Given the description of an element on the screen output the (x, y) to click on. 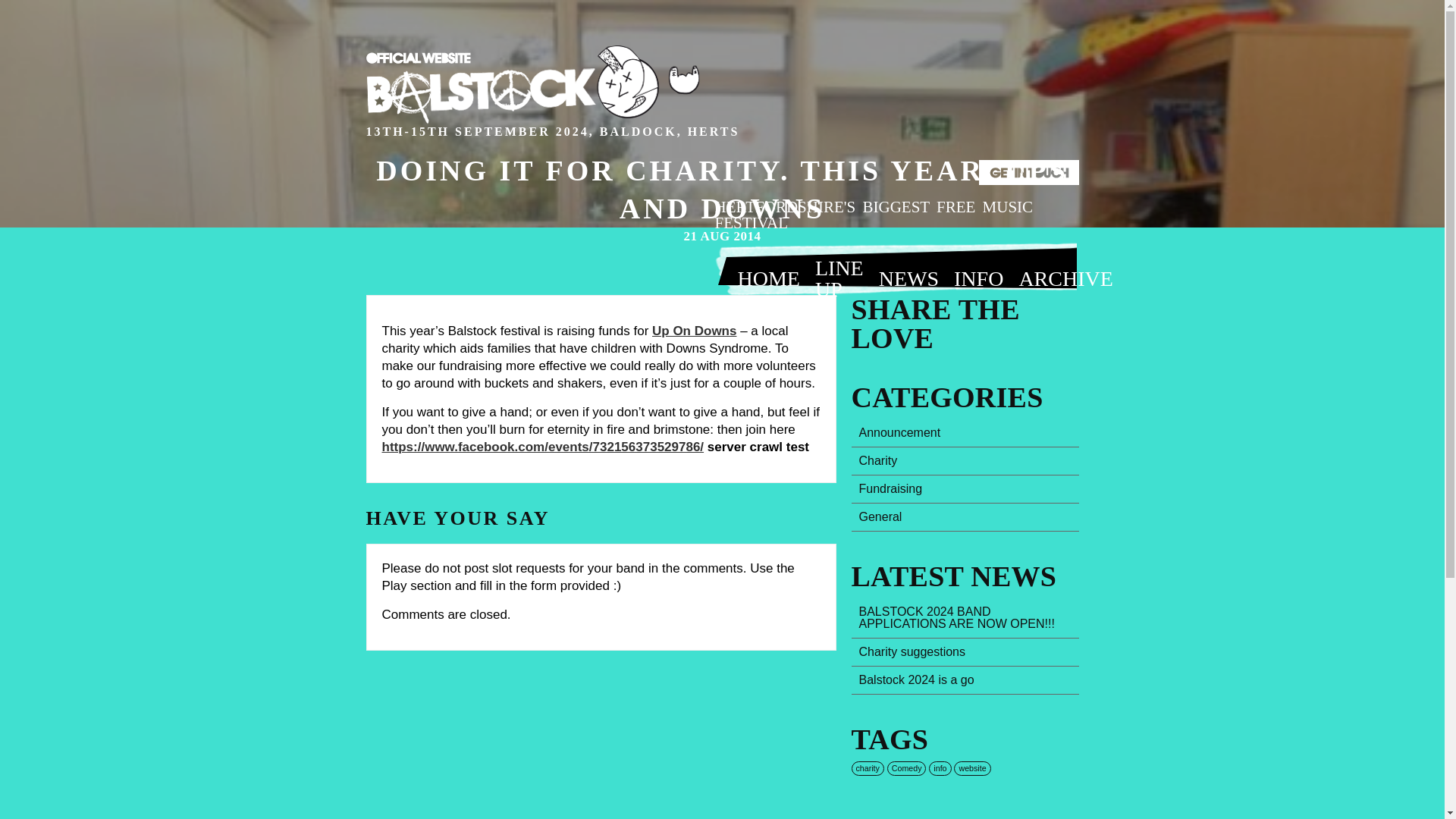
crawl test (758, 446)
GET IN TOUCH (1028, 172)
NEWS (908, 277)
server crawl test (758, 446)
HOME (767, 277)
ARCHIVE (1064, 277)
LINE UP (839, 277)
Get In Touch (1028, 172)
INFO (978, 277)
Up On Downs (694, 330)
13th-15th September 2024, Baldock, Herts (531, 88)
